Given the description of an element on the screen output the (x, y) to click on. 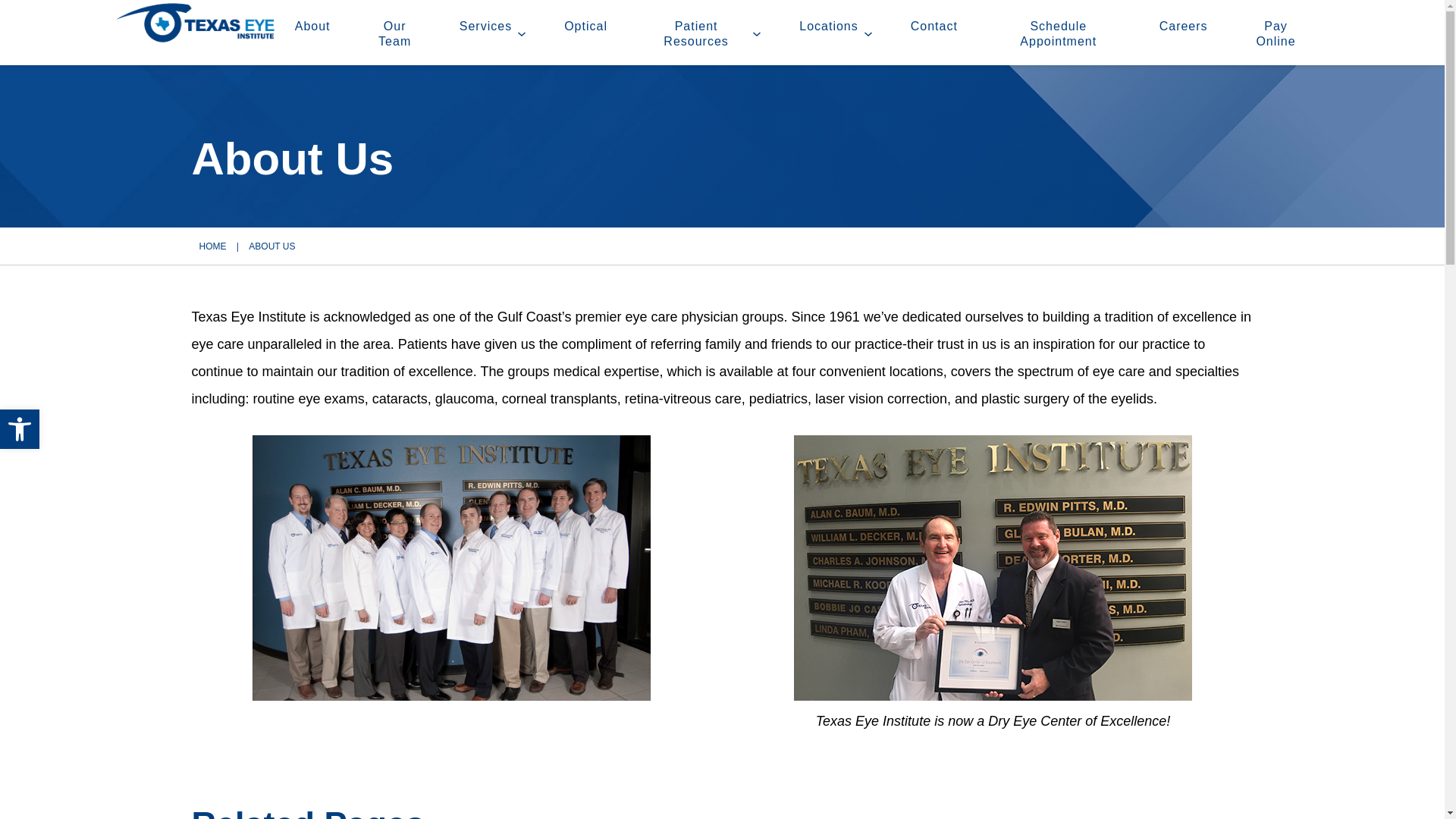
Accessibility Tools (19, 428)
Patient Resources (689, 34)
Accessibility Tools (19, 428)
Services (478, 34)
About (312, 34)
Optical (585, 34)
Our Team (394, 34)
Locations (822, 34)
